Given the description of an element on the screen output the (x, y) to click on. 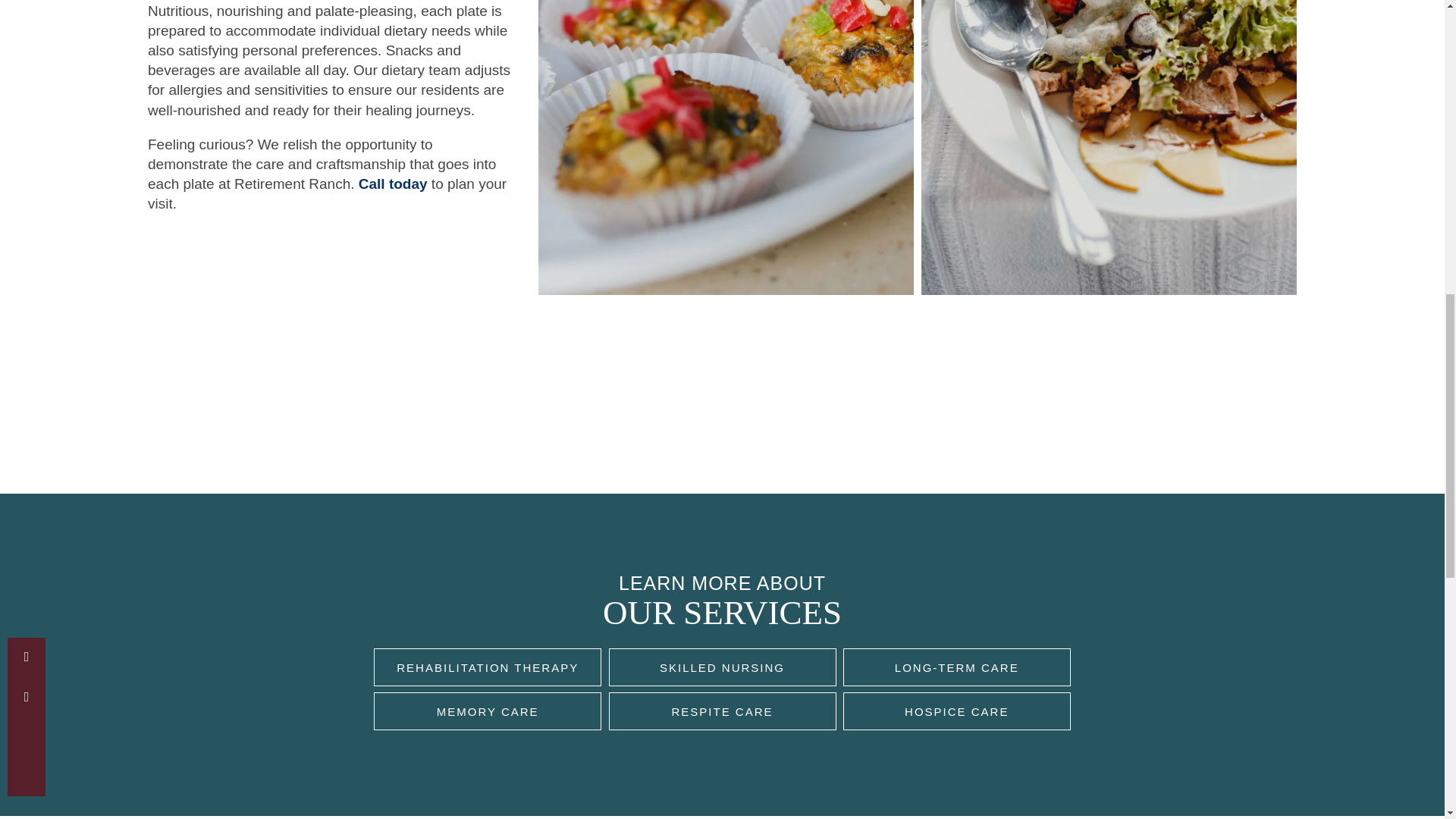
Call today (393, 183)
REHABILITATION THERAPY (487, 667)
LONG-TERM CARE (956, 667)
SKILLED NURSING (721, 667)
